Given the description of an element on the screen output the (x, y) to click on. 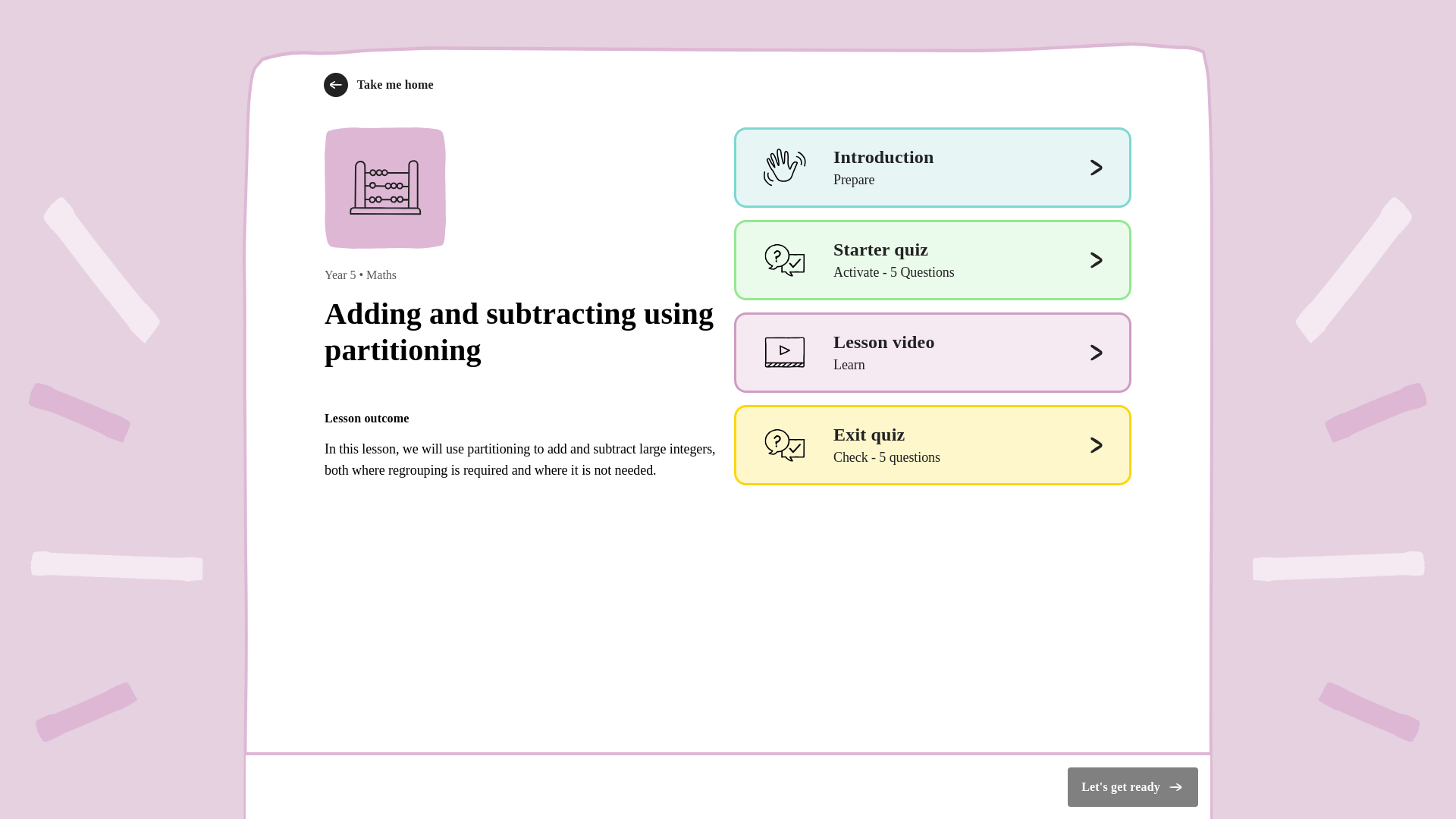
Take me home (932, 352)
Let's get ready (932, 167)
